Given the description of an element on the screen output the (x, y) to click on. 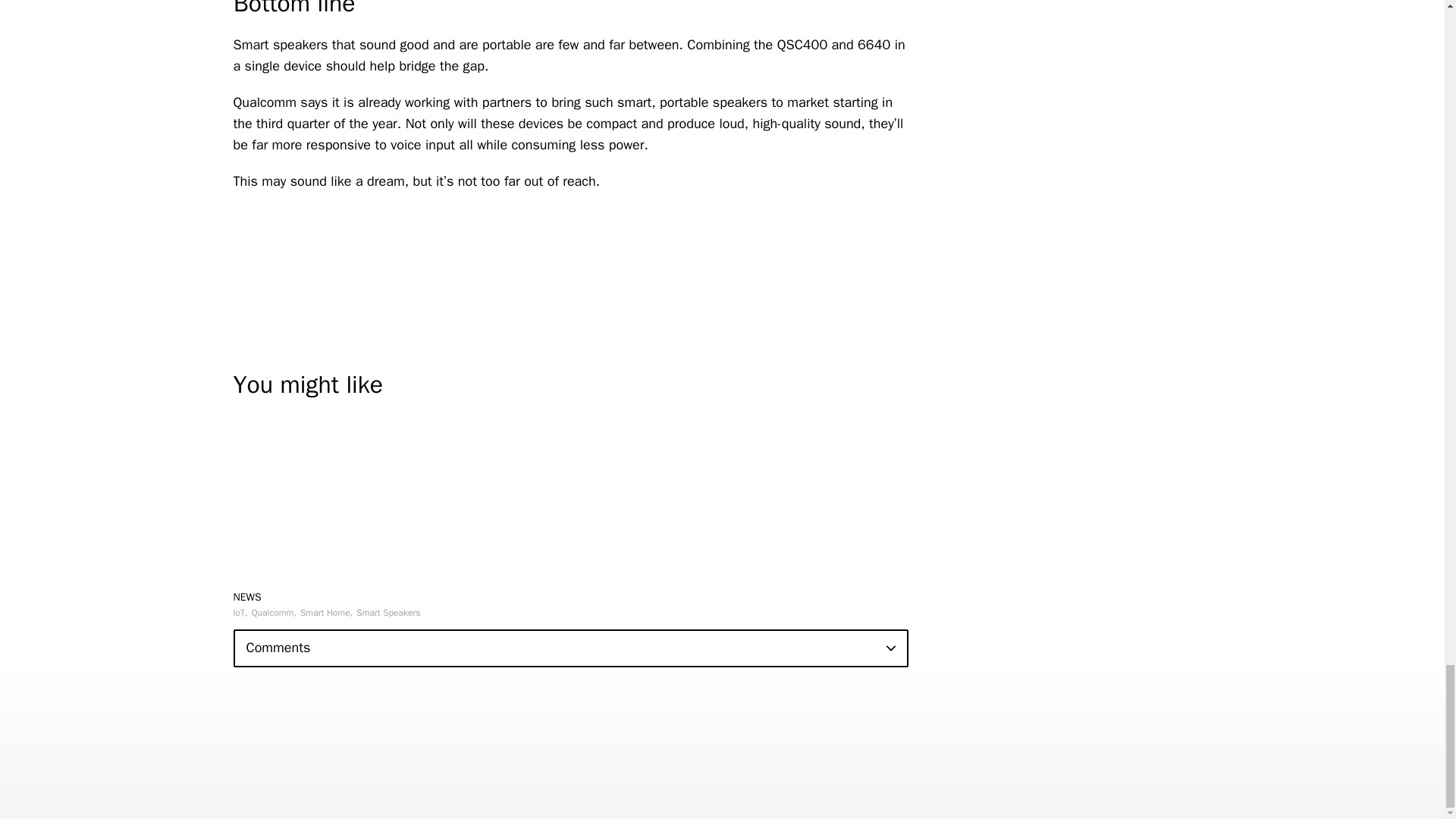
Comments (570, 648)
IoT (239, 612)
NEWS (247, 596)
Smart Home (325, 612)
Qualcomm (274, 612)
Smart Speakers (388, 612)
